Given the description of an element on the screen output the (x, y) to click on. 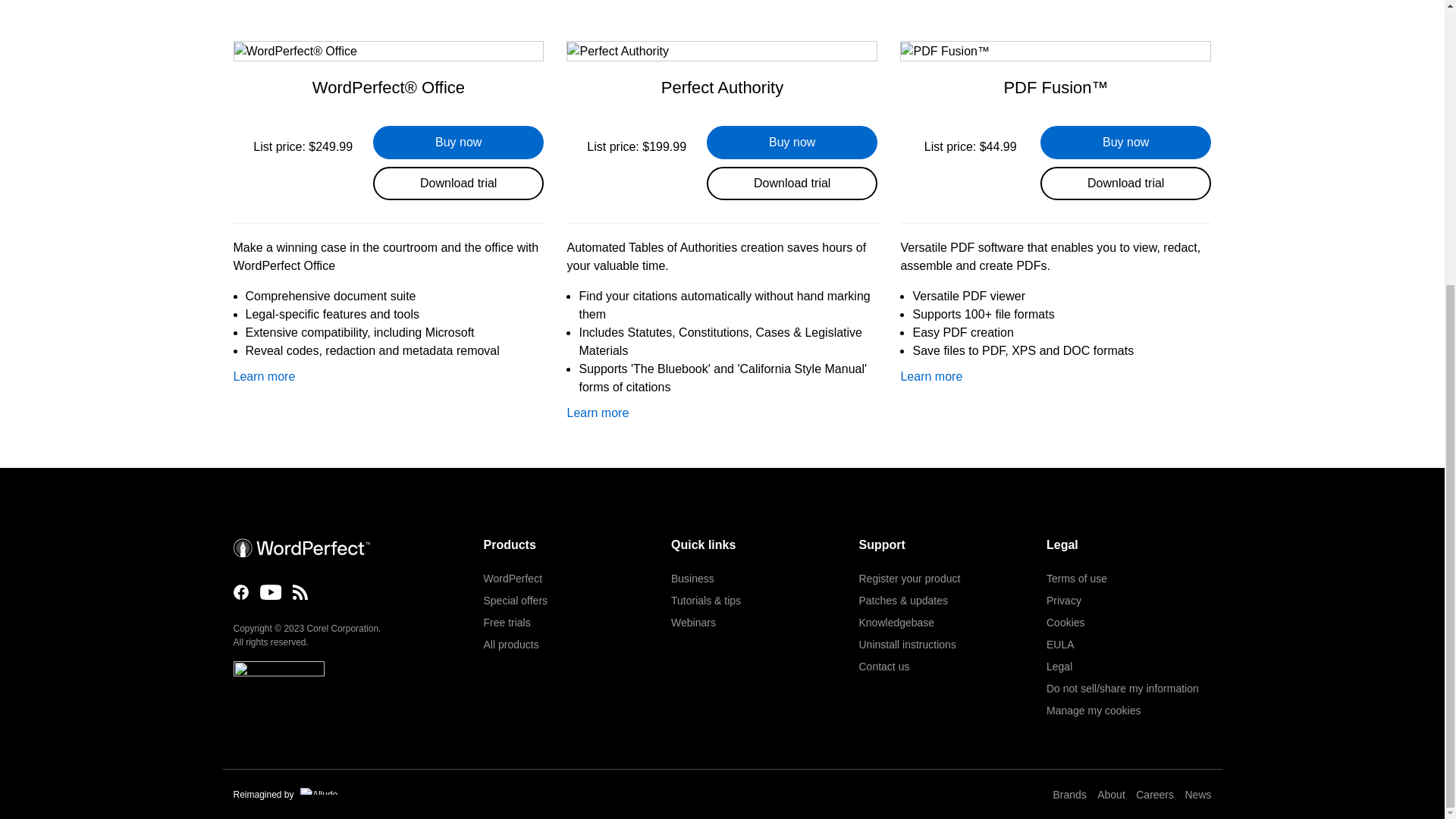
View TrustedSite Certification (278, 678)
Office Community (299, 591)
Alludo (318, 790)
WordPerfect YouTube (270, 591)
Alludo Facebook (240, 591)
WordPerfect (300, 548)
